Given the description of an element on the screen output the (x, y) to click on. 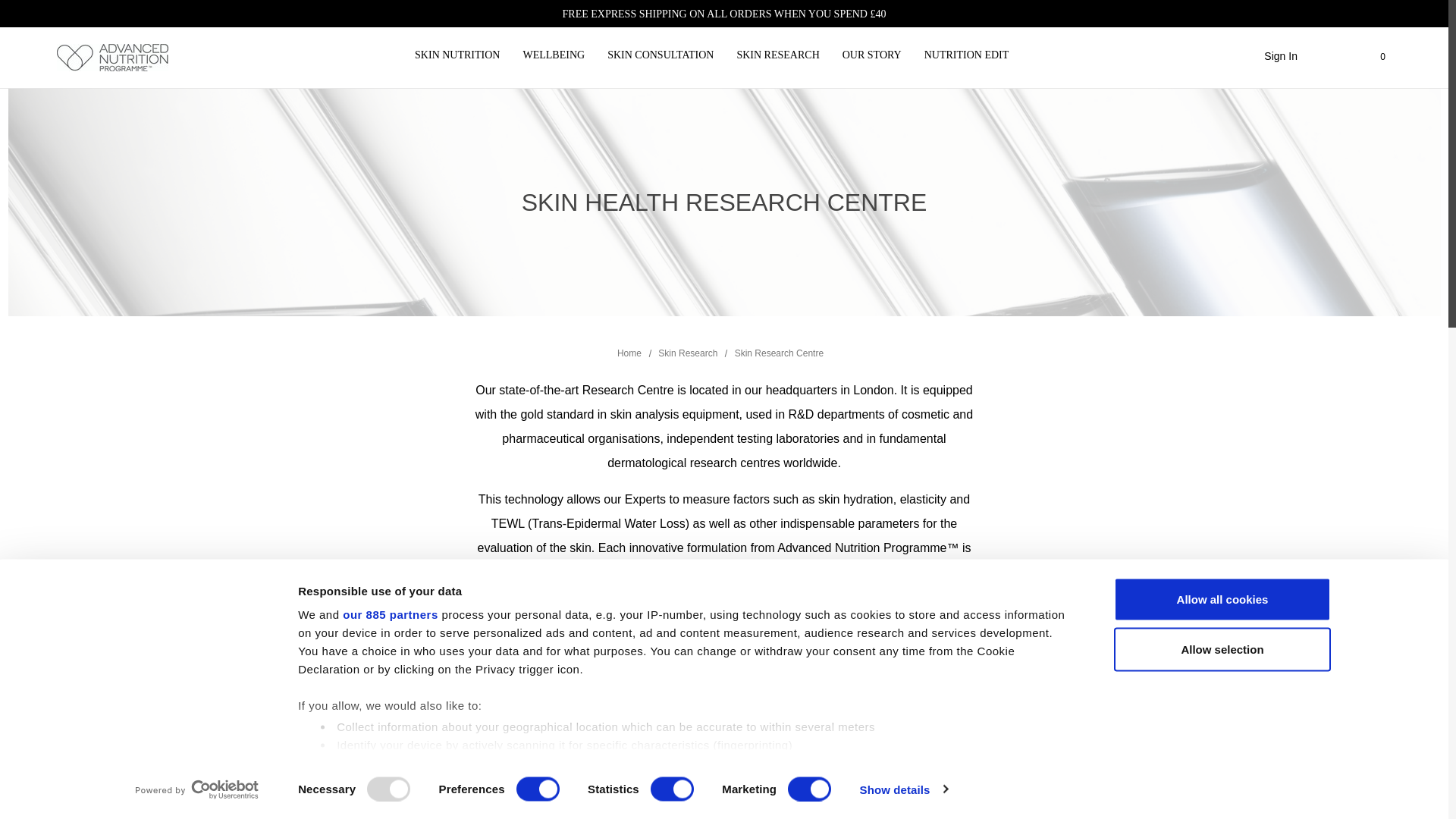
our 885 partners (390, 614)
Show details (903, 789)
details section (826, 765)
